Given the description of an element on the screen output the (x, y) to click on. 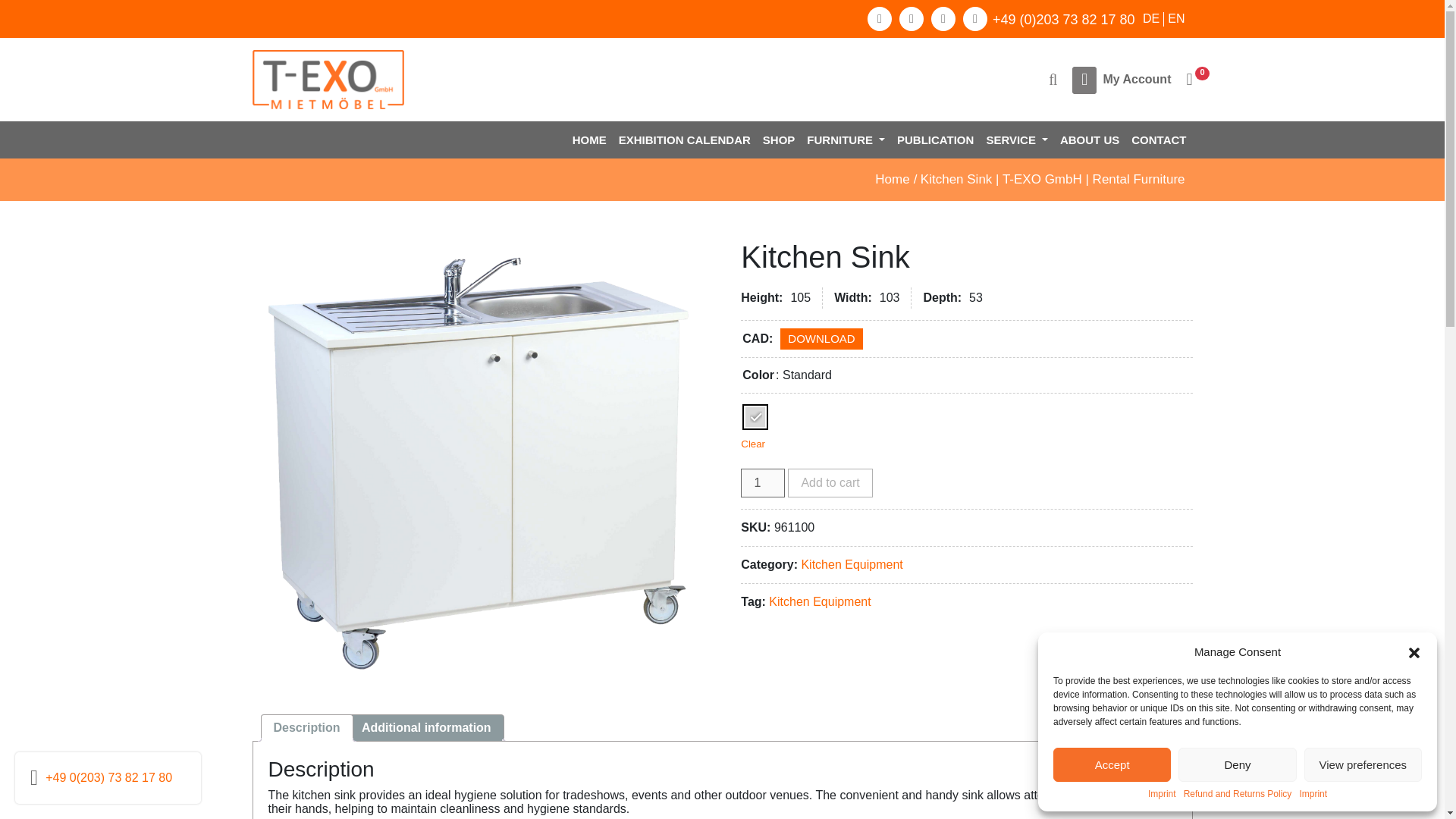
Home (589, 139)
Furniture (845, 139)
FURNITURE (845, 139)
HOME (589, 139)
SHOP (779, 139)
Deny (1236, 764)
Click here to login (1136, 79)
Refund and Returns Policy (1237, 794)
View preferences (1363, 764)
My Account (1136, 79)
1 (762, 482)
Imprint (1312, 794)
Imprint (1162, 794)
EXHIBITION CALENDAR (684, 139)
PUBLICATION (935, 139)
